Given the description of an element on the screen output the (x, y) to click on. 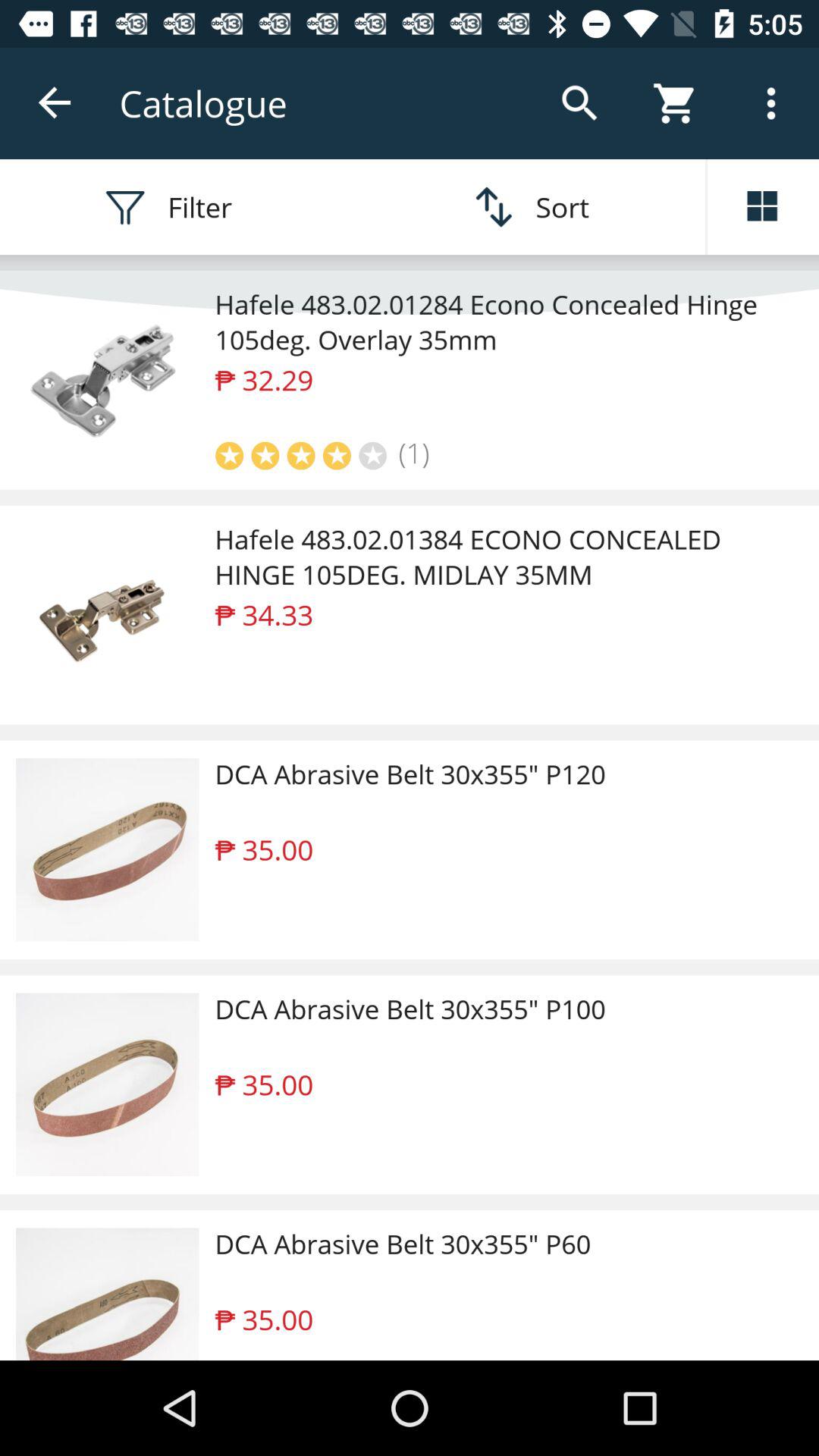
turn off item to the left of catalogue icon (55, 103)
